Given the description of an element on the screen output the (x, y) to click on. 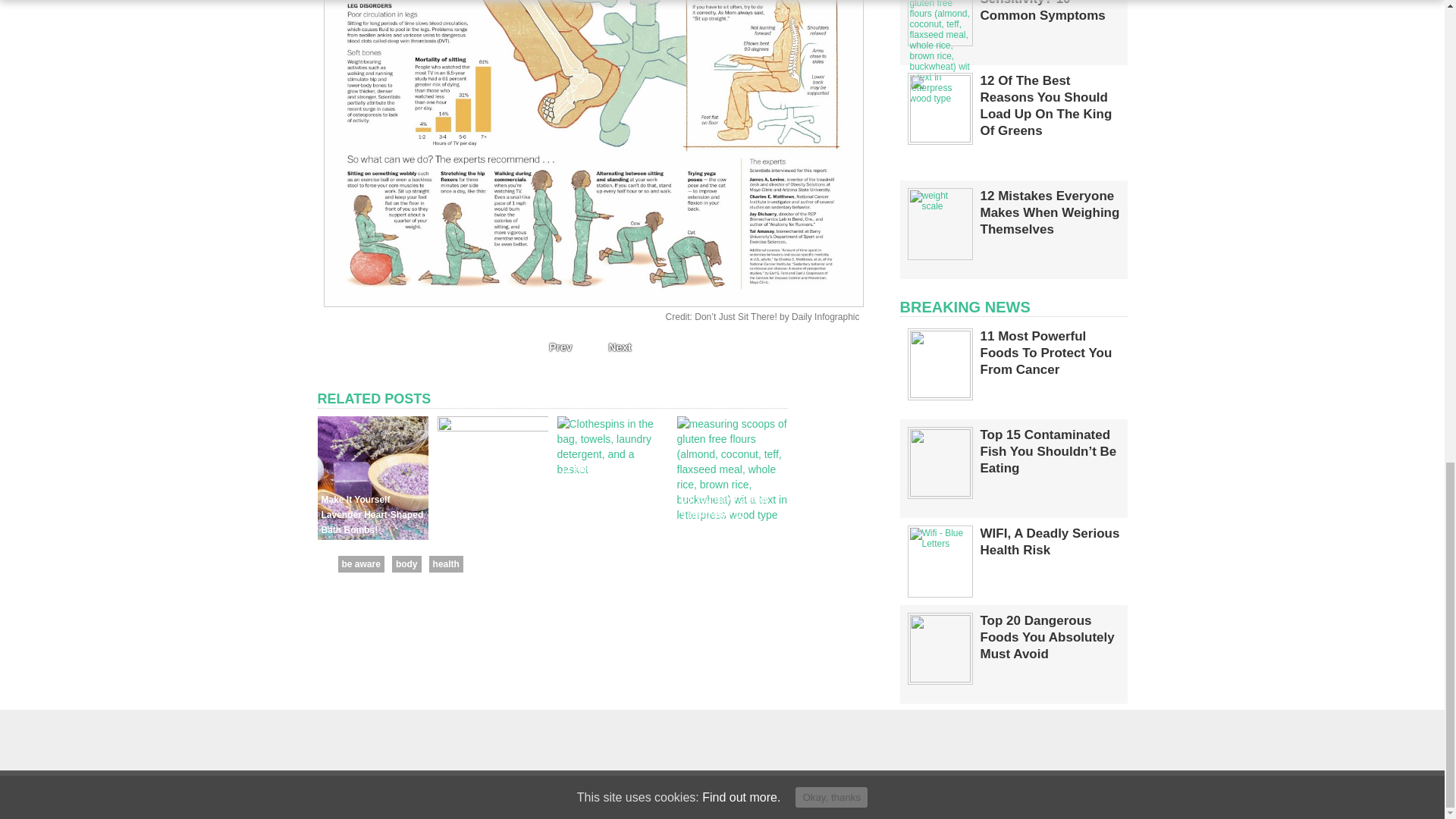
Make It Yourself Lavender Heart-Shaped Bath Bombs! (372, 514)
Next (622, 347)
Prev (555, 347)
